Given the description of an element on the screen output the (x, y) to click on. 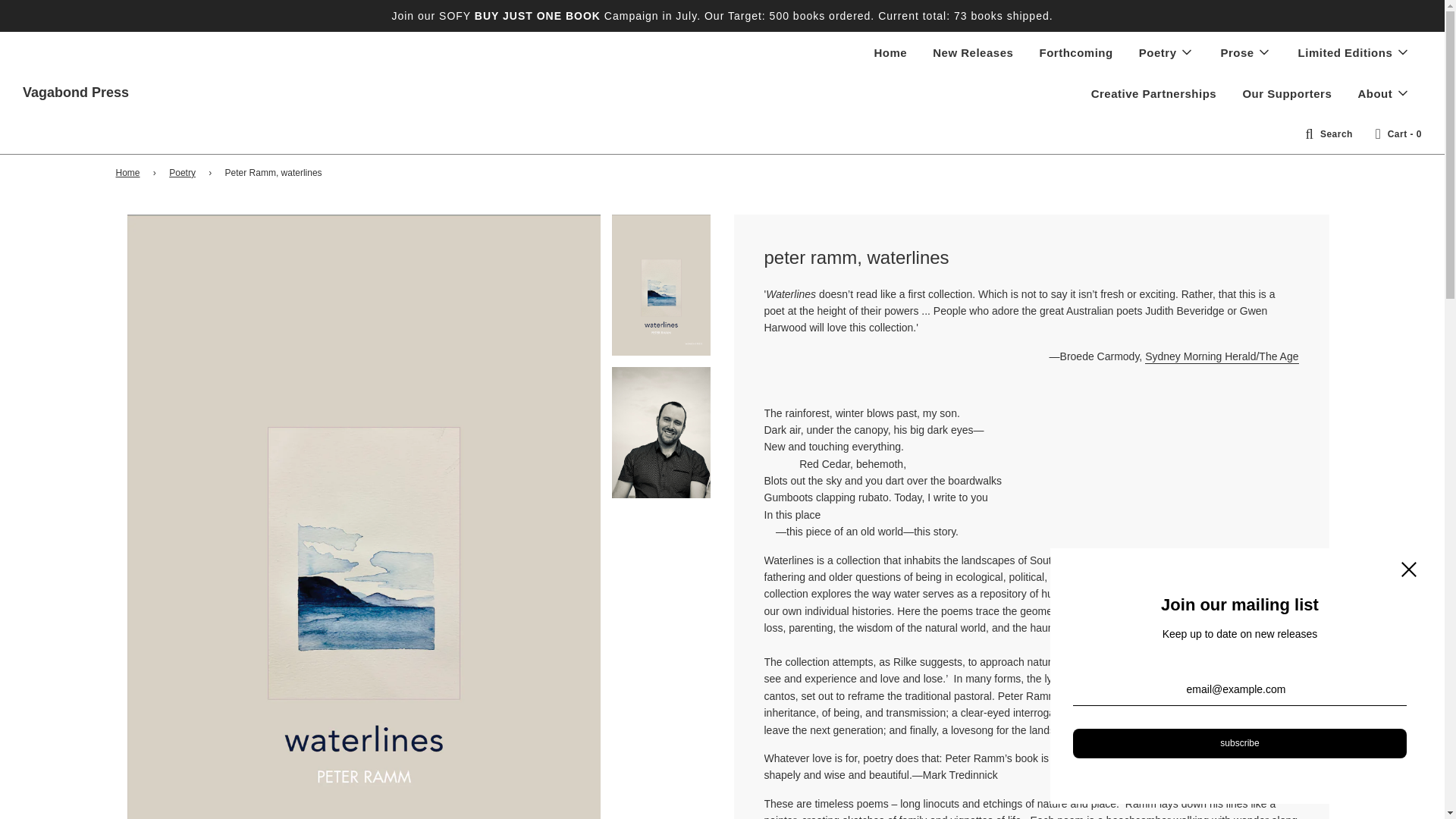
New Releases (973, 52)
Vagabond Press (76, 92)
Subscribe (1239, 743)
Back to the frontpage (129, 173)
Home (889, 52)
